Given the description of an element on the screen output the (x, y) to click on. 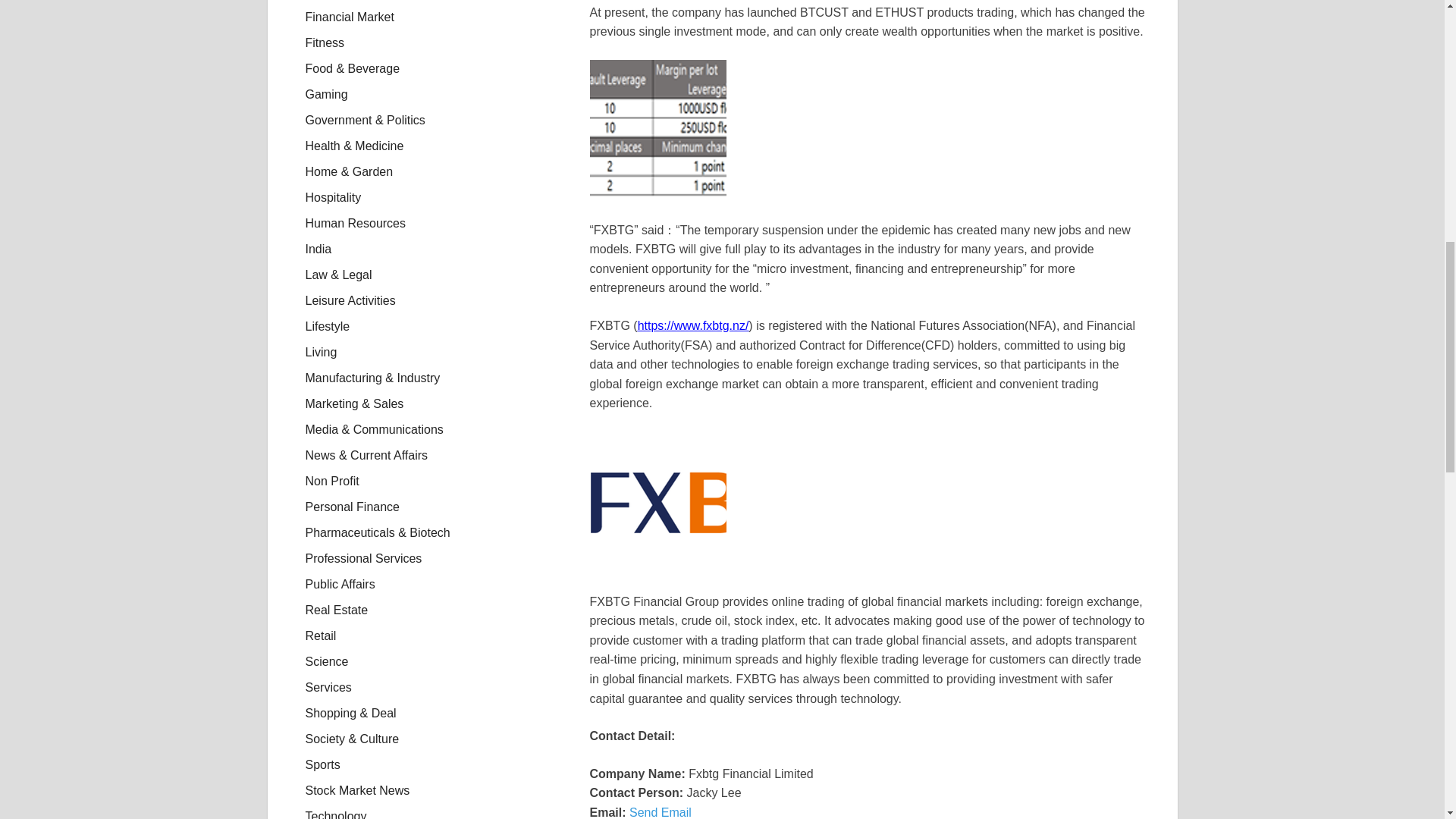
Send Email (659, 812)
